Given the description of an element on the screen output the (x, y) to click on. 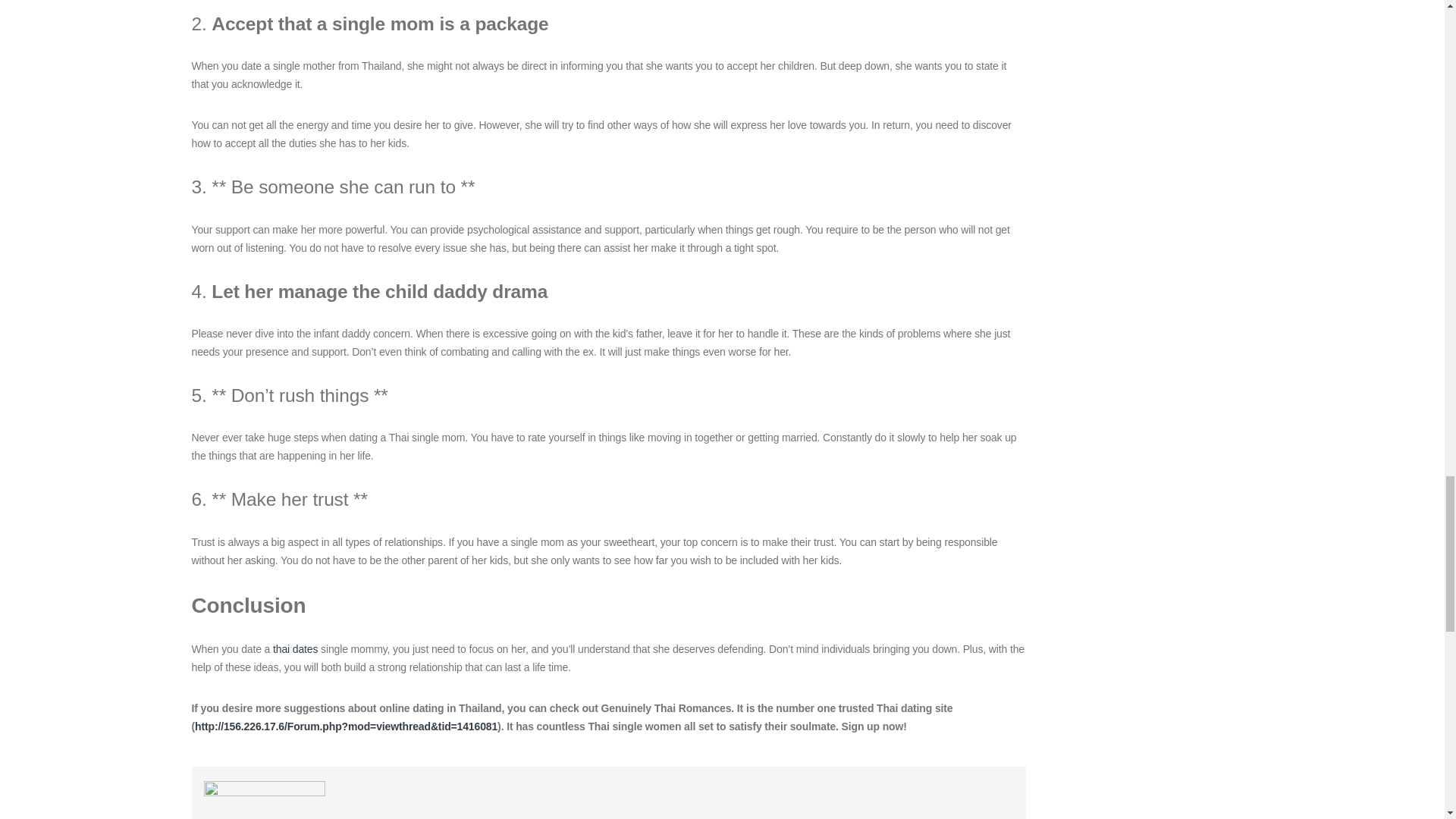
thai dates (295, 648)
